Given the description of an element on the screen output the (x, y) to click on. 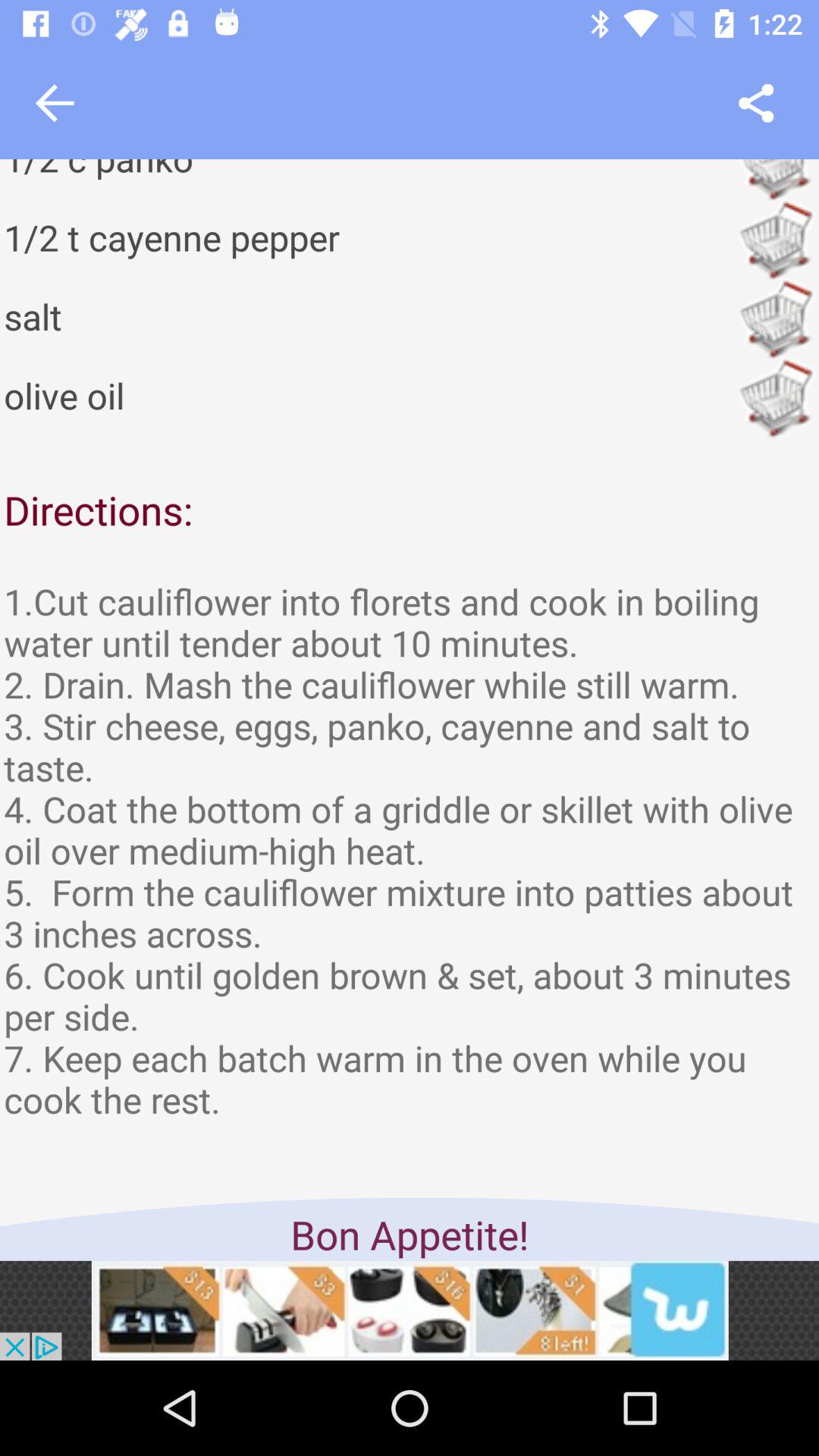
share (756, 103)
